Given the description of an element on the screen output the (x, y) to click on. 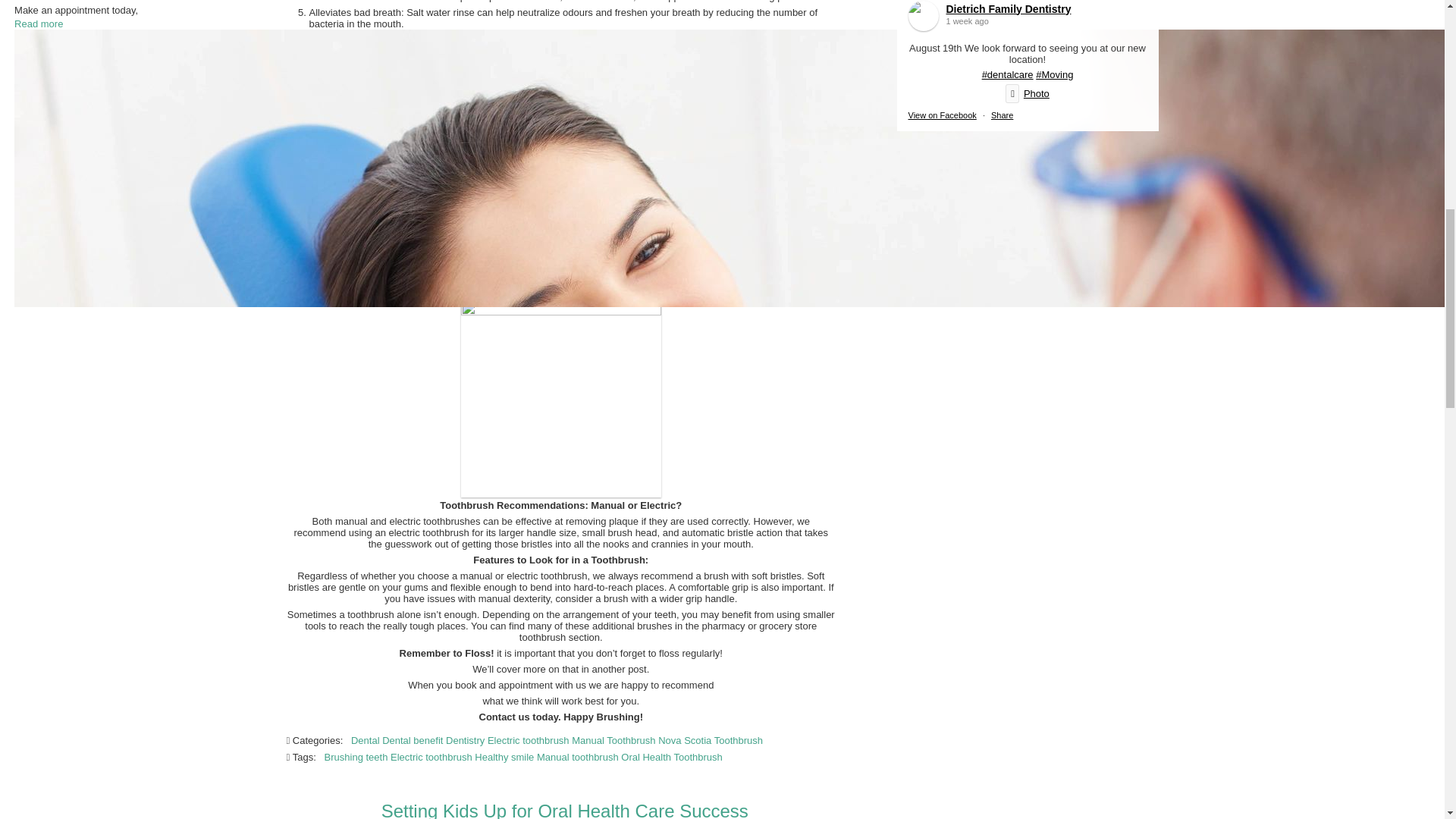
Dietrich Family Dentistry (345, 289)
Posts by Dietrich Family Dentistry (345, 289)
Read more (38, 23)
Manual toothbrush (577, 756)
Dentistry (464, 740)
Canadian dental benefit (442, 205)
Rinsing (503, 188)
Dental (365, 188)
Electric toothbrush (430, 756)
Dental benefit (411, 188)
Dental (365, 740)
Electric toothbrush (528, 740)
Dental benefit (411, 740)
How to pick a toothbrush (564, 259)
Healthy smile (526, 205)
